Given the description of an element on the screen output the (x, y) to click on. 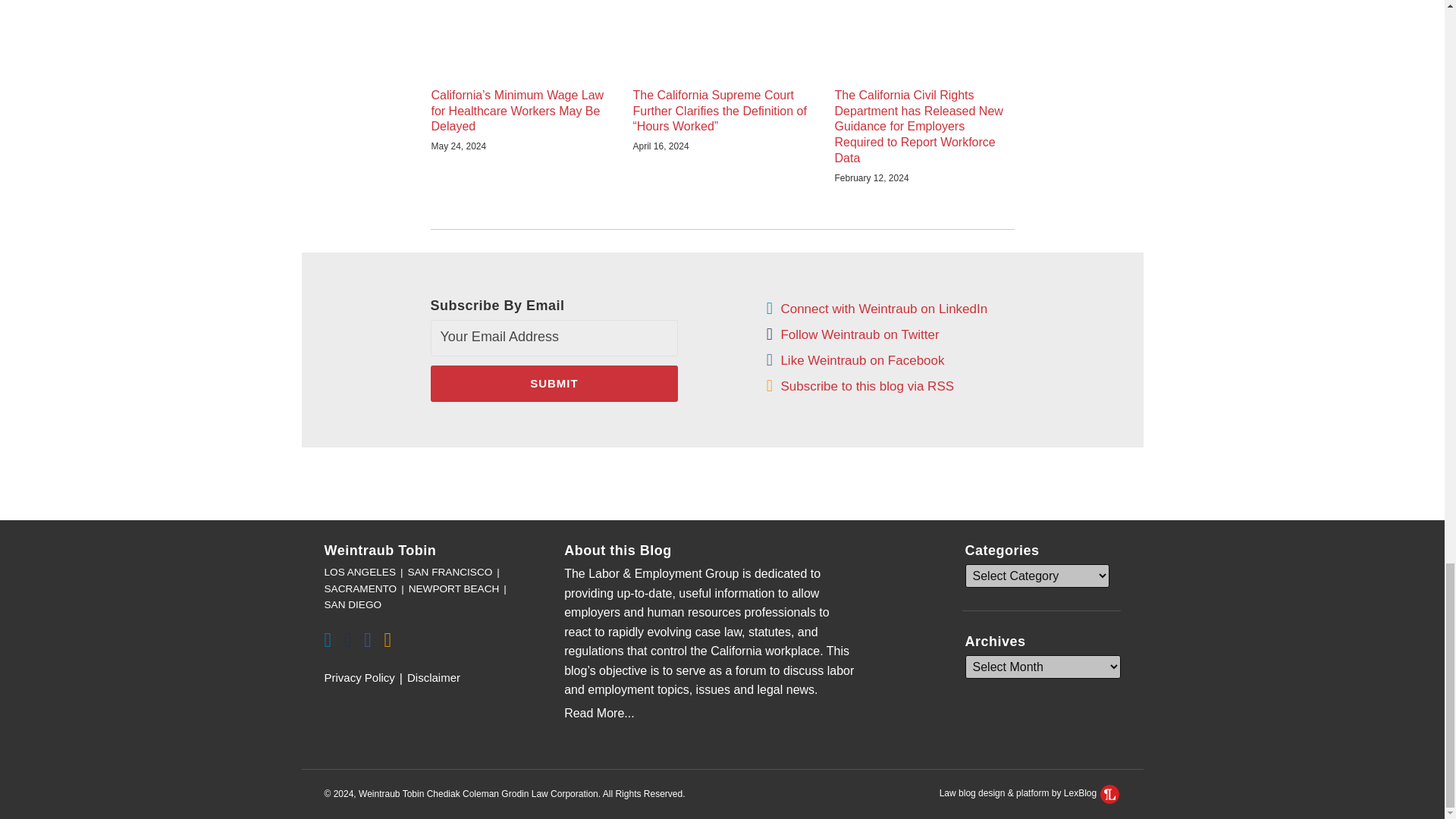
Submit (554, 383)
LexBlog Logo (1109, 793)
